Given the description of an element on the screen output the (x, y) to click on. 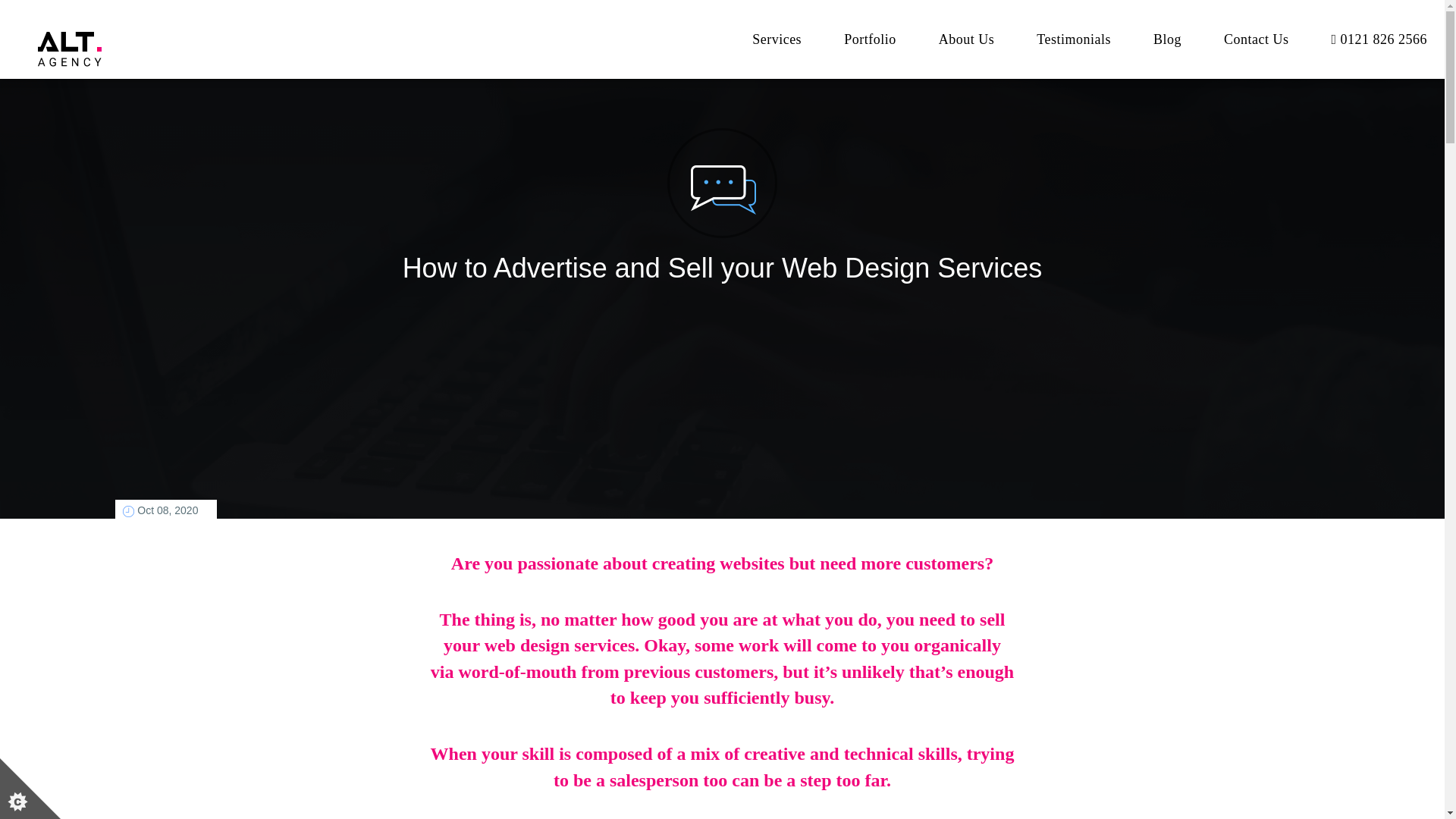
About Us (966, 39)
Cookie Control (30, 788)
Testimonials (1073, 39)
Portfolio (870, 39)
Services (776, 39)
Contact Us (1256, 39)
